Given the description of an element on the screen output the (x, y) to click on. 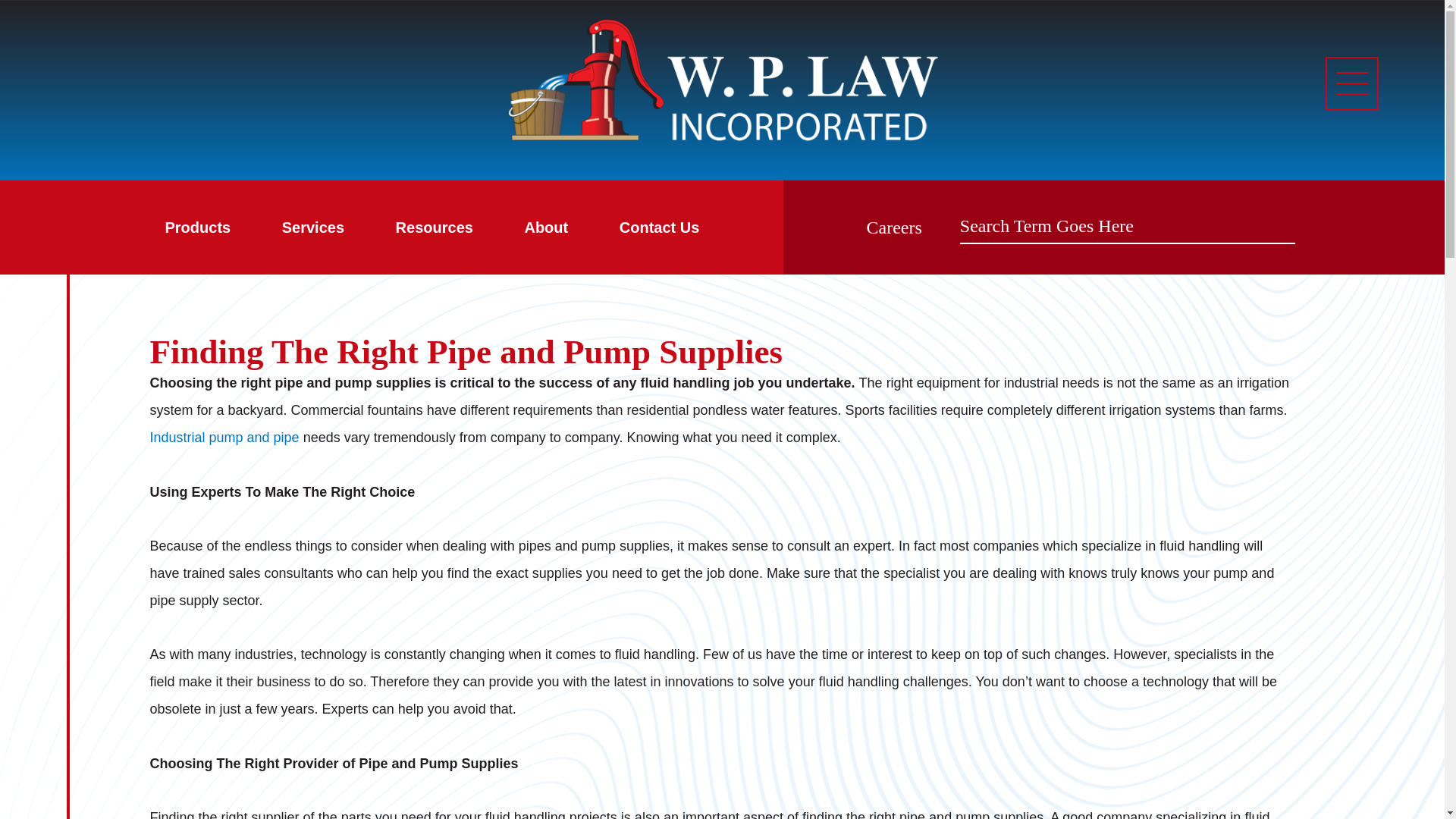
Contact Us (659, 227)
About (545, 227)
Services (312, 227)
Resources (433, 227)
Products (197, 227)
